Given the description of an element on the screen output the (x, y) to click on. 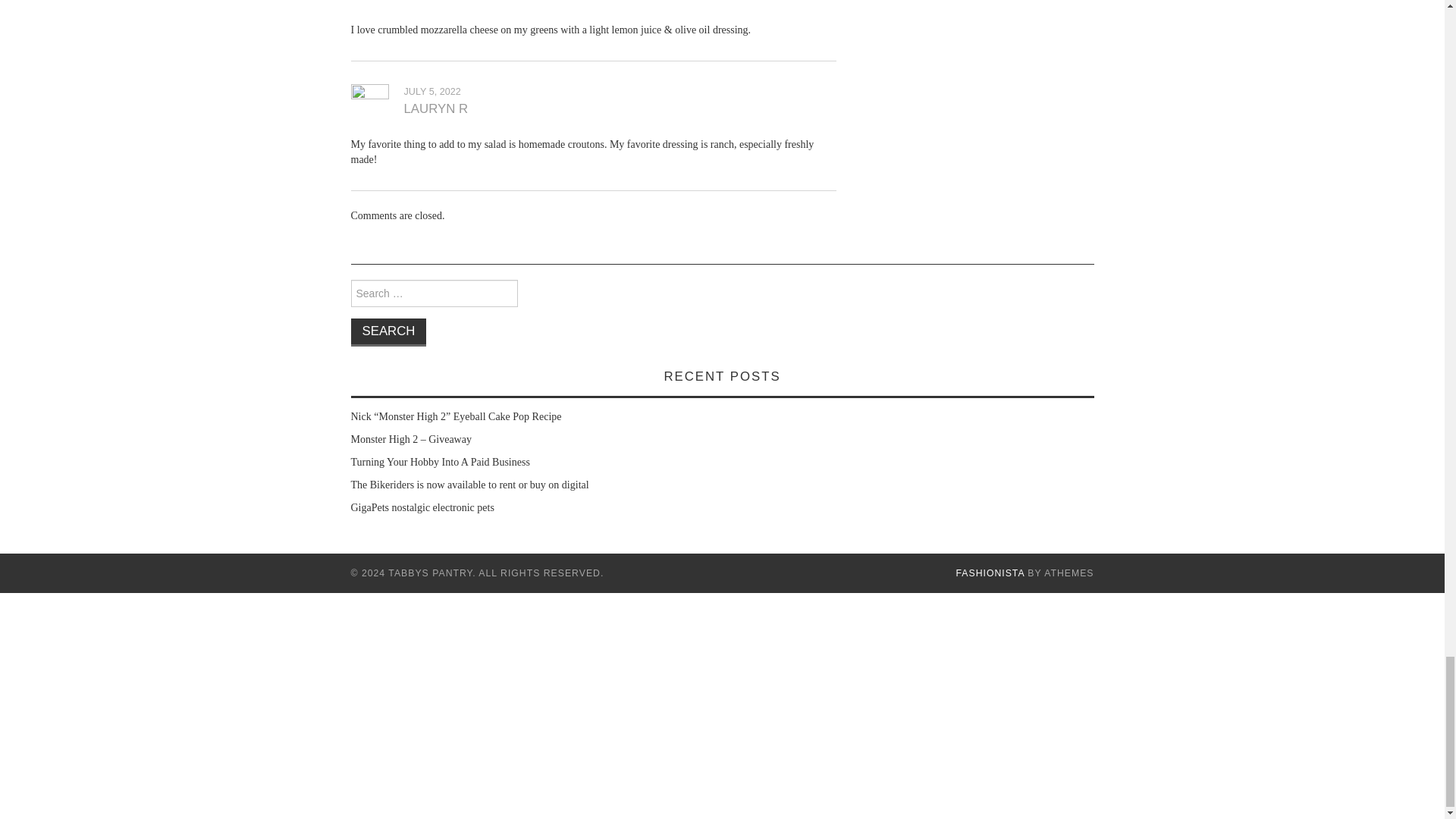
Search (388, 332)
Search (388, 332)
JULY 5, 2022 (431, 91)
Search for: (433, 293)
